Given the description of an element on the screen output the (x, y) to click on. 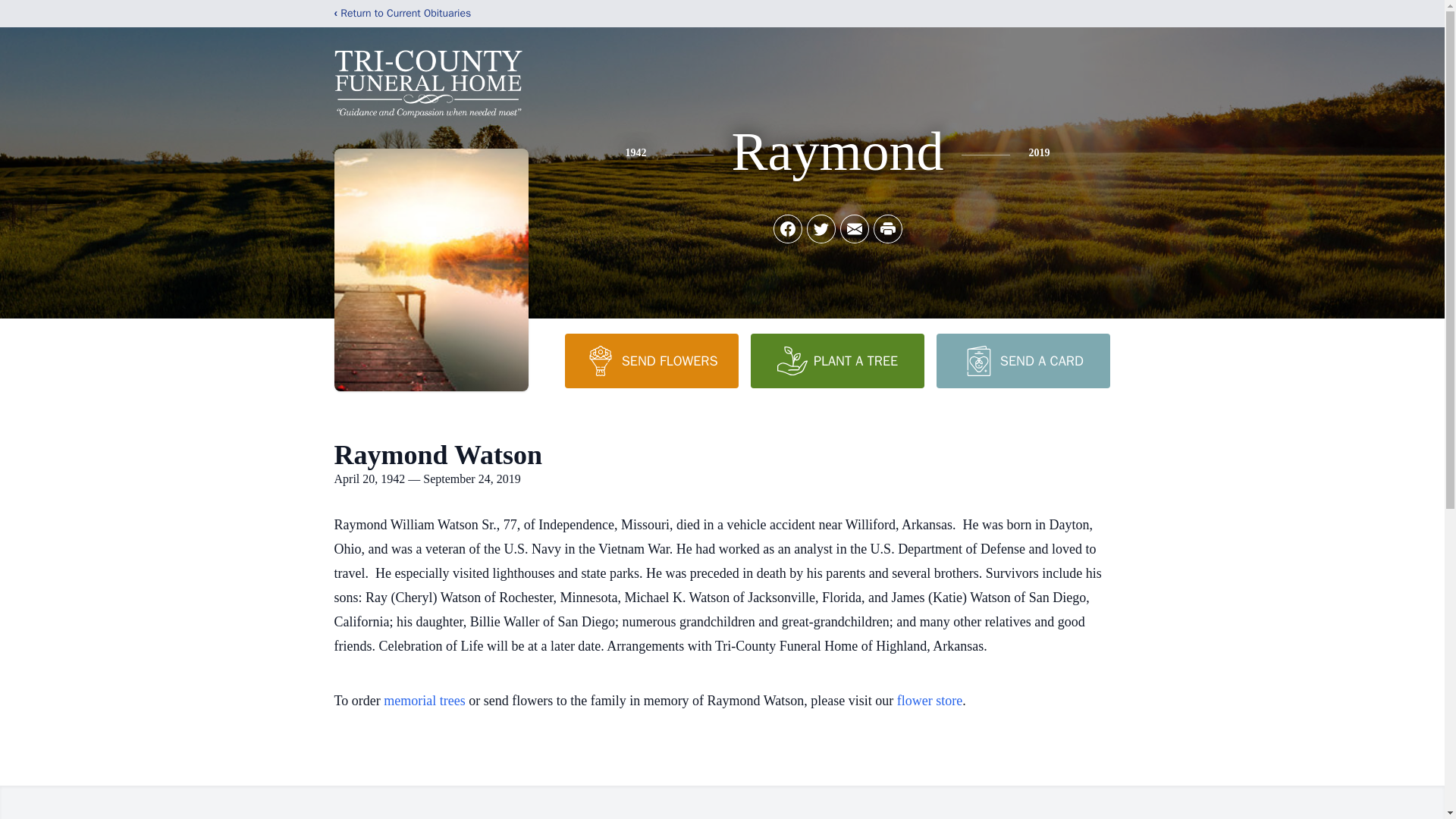
flower store (929, 700)
SEND A CARD (1022, 360)
SEND FLOWERS (651, 360)
PLANT A TREE (837, 360)
memorial trees (424, 700)
